Given the description of an element on the screen output the (x, y) to click on. 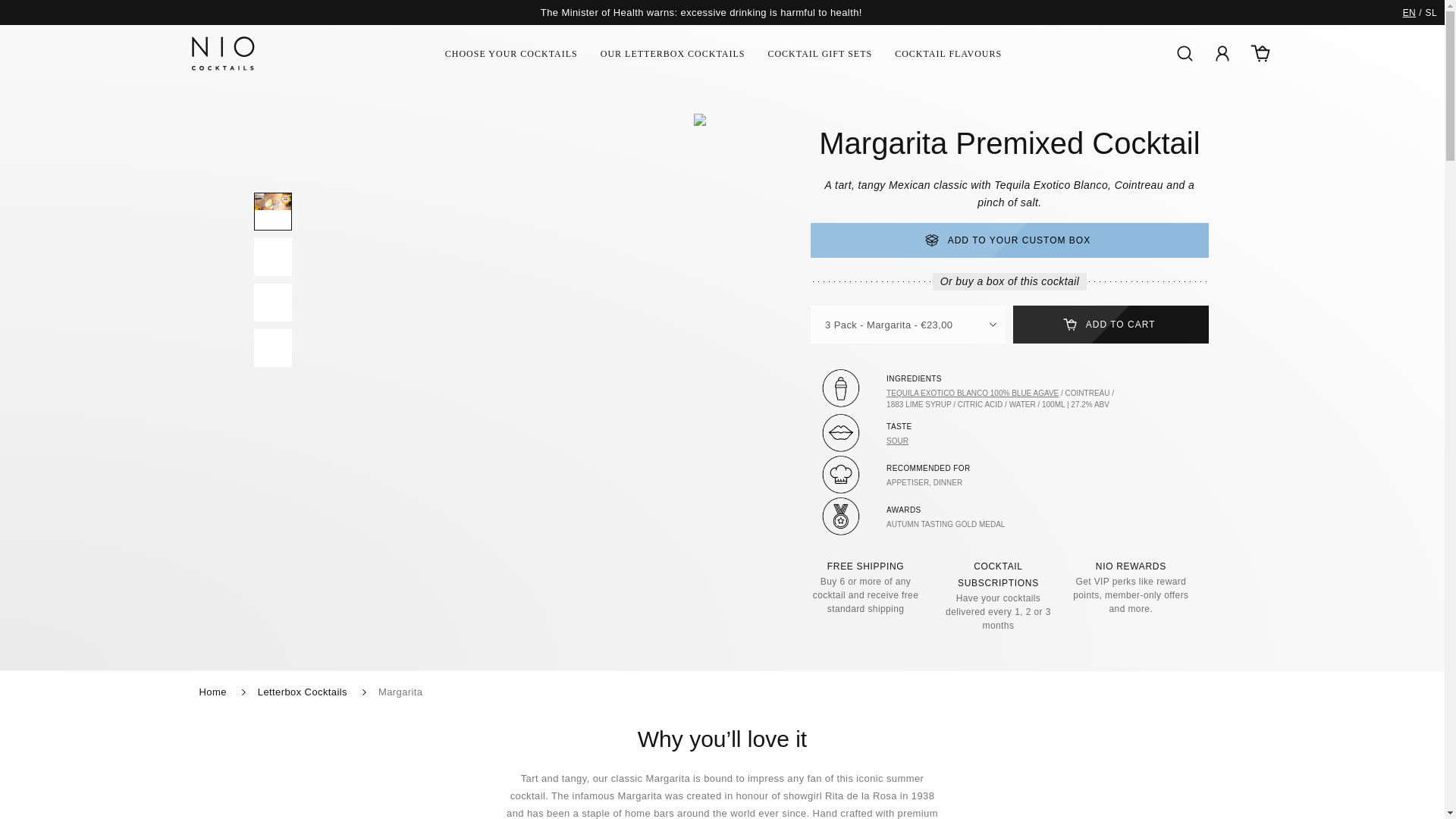
CHOOSE YOUR COCKTAILS (510, 53)
COCKTAIL FLAVOURS (948, 53)
OUR LETTERBOX COCKTAILS (672, 53)
EN (1409, 12)
COCKTAIL GIFT SETS (819, 53)
Chat (1406, 779)
My Account (1222, 53)
SL (1431, 12)
